Given the description of an element on the screen output the (x, y) to click on. 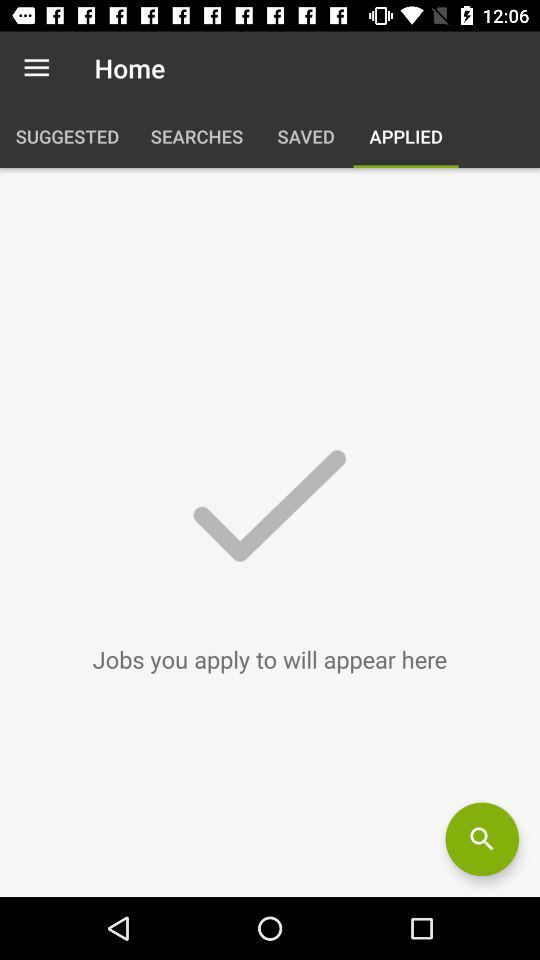
search here (482, 839)
